Given the description of an element on the screen output the (x, y) to click on. 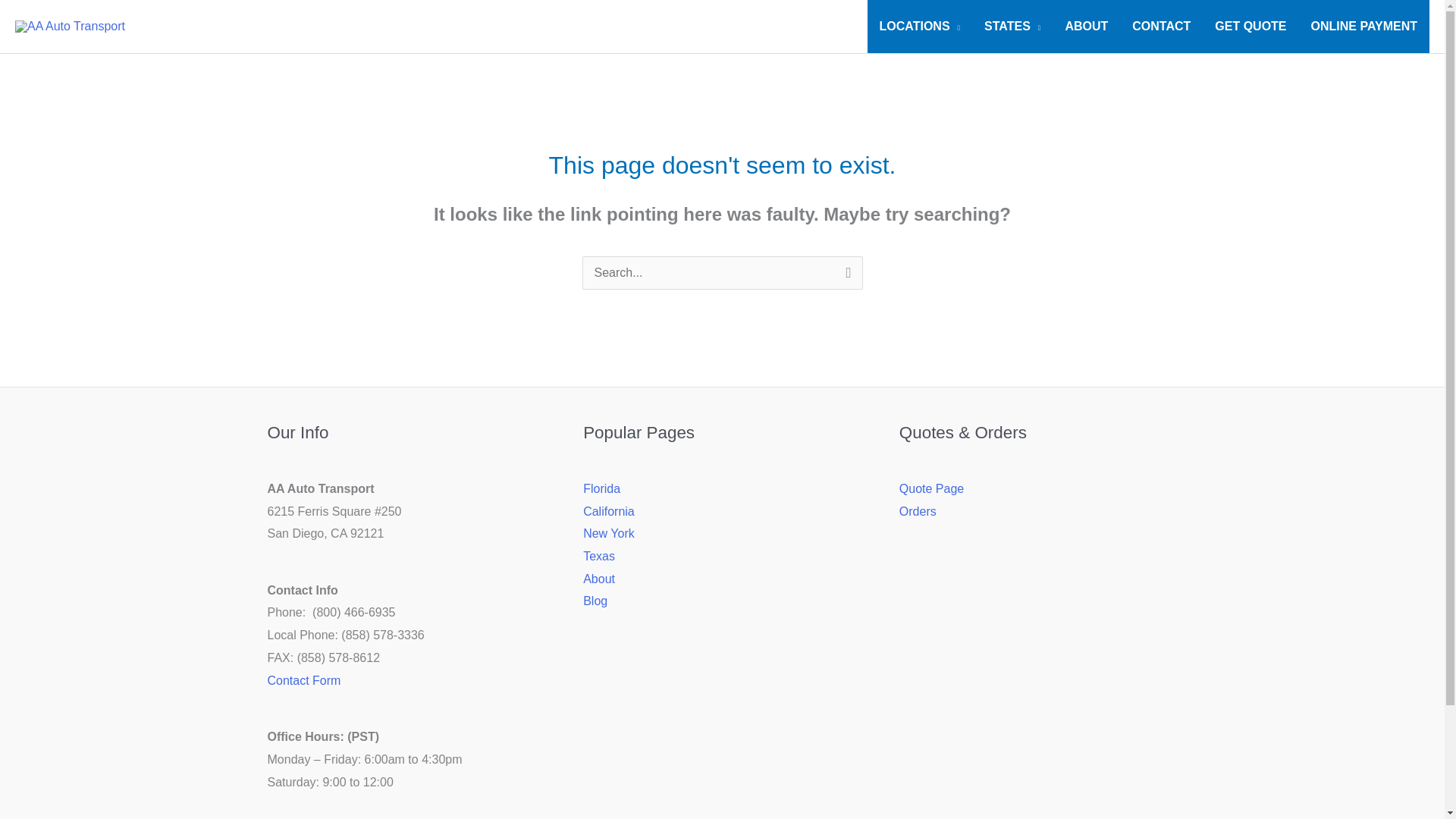
LOCATIONS (919, 26)
Search (844, 277)
STATES (1012, 26)
Search (844, 277)
